Given the description of an element on the screen output the (x, y) to click on. 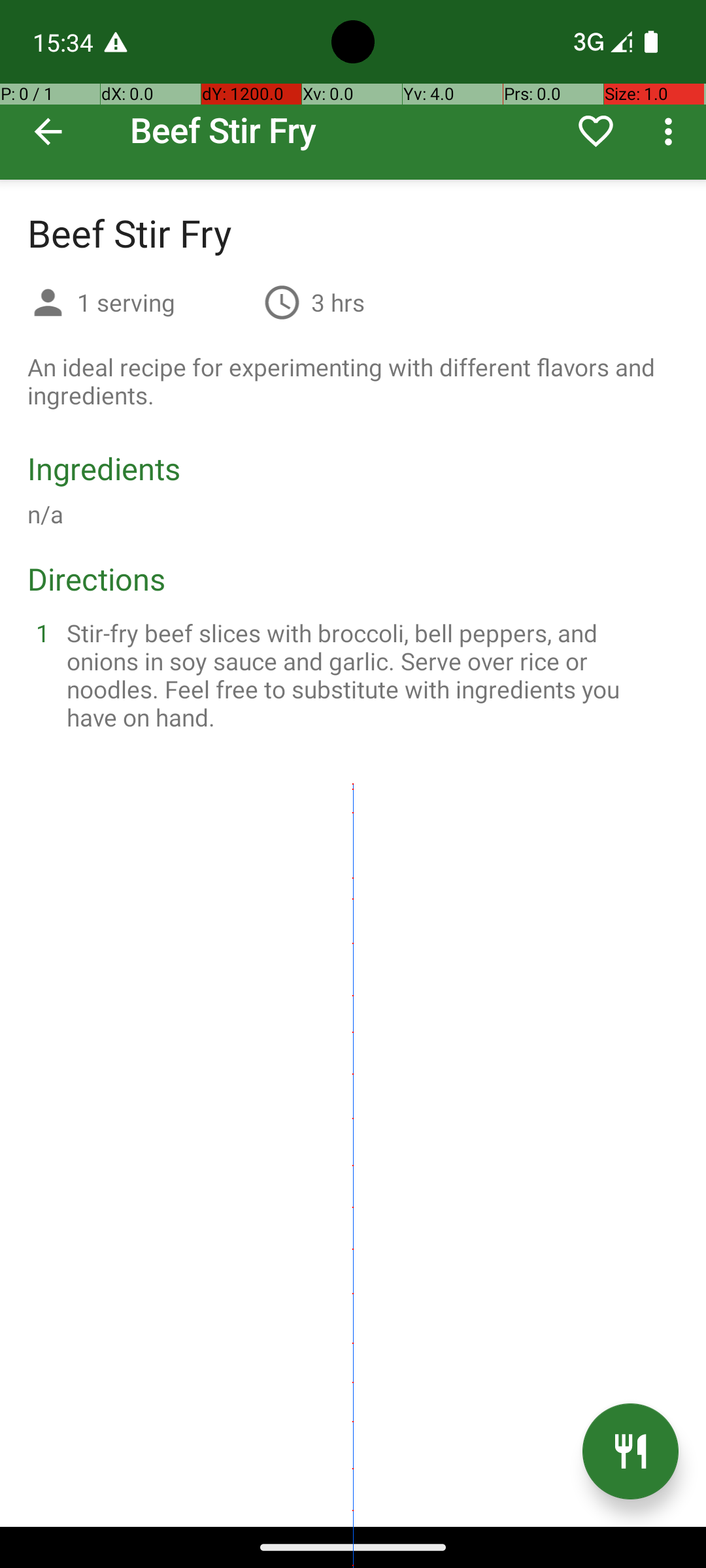
n/a Element type: android.widget.TextView (45, 513)
Stir-fry beef slices with broccoli, bell peppers, and onions in soy sauce and garlic. Serve over rice or noodles. Feel free to substitute with ingredients you have on hand. Element type: android.widget.TextView (368, 674)
